Given the description of an element on the screen output the (x, y) to click on. 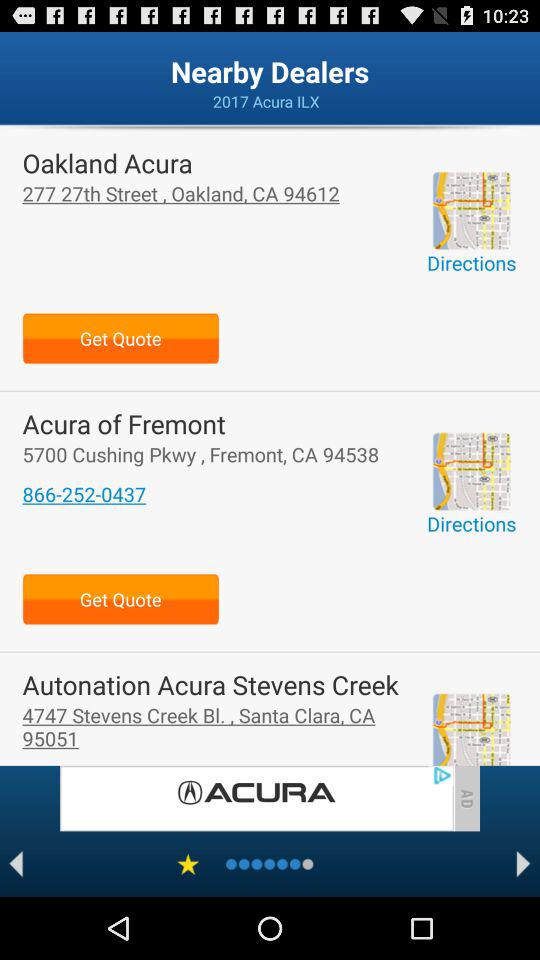
goto previous page (16, 864)
